Given the description of an element on the screen output the (x, y) to click on. 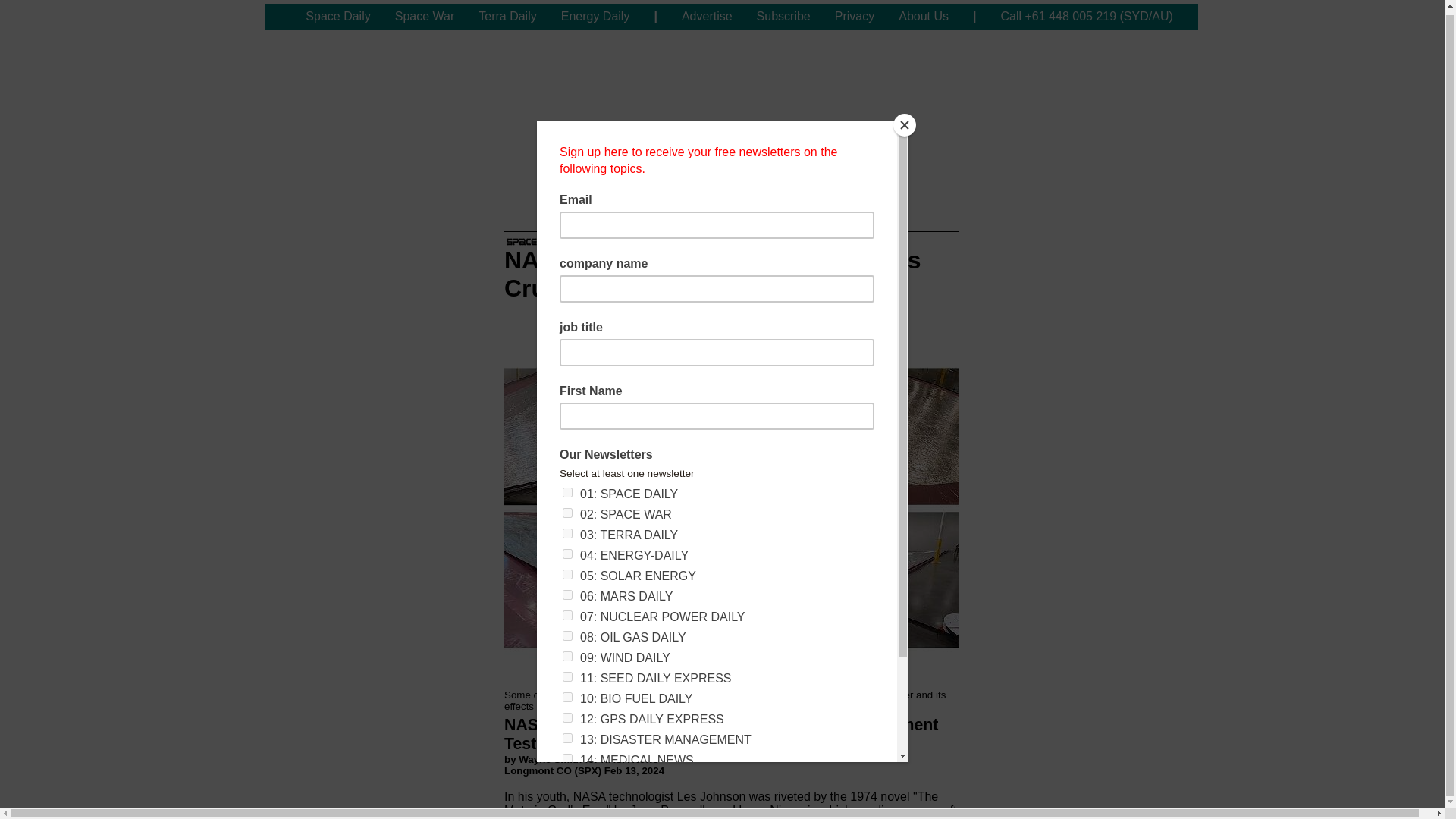
- (279, 16)
Space War (424, 16)
Advertisement (731, 99)
Space Daily (337, 16)
Advertise (706, 16)
Terra Daily (506, 16)
Privacy (854, 16)
Energy Daily (595, 16)
Subscribe (783, 16)
